Given the description of an element on the screen output the (x, y) to click on. 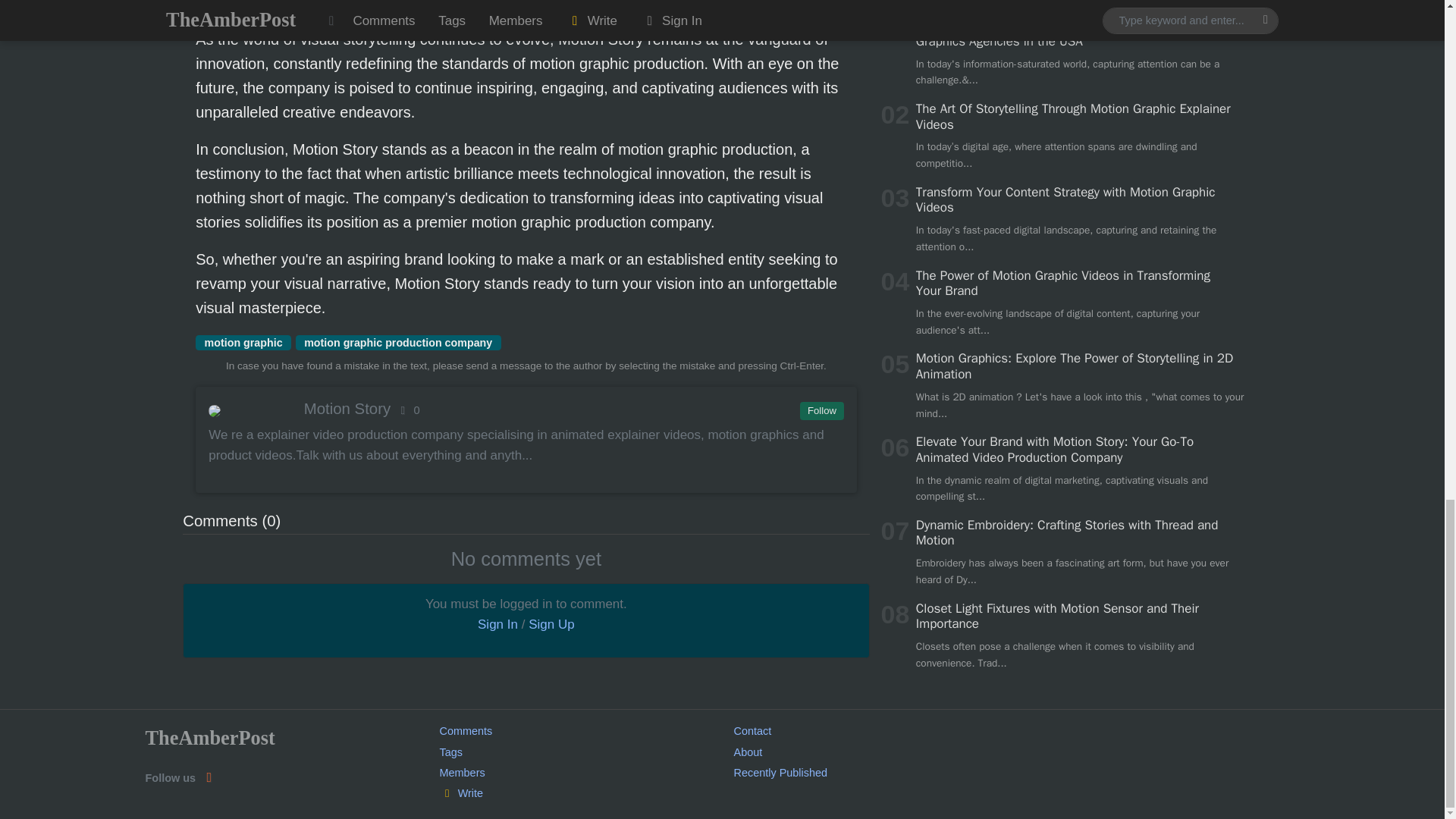
Sign In (497, 624)
motion graphic (243, 342)
motion graphic (243, 342)
motion graphic production company (397, 342)
Sign Up (550, 624)
motion graphic production company (397, 342)
Rating (407, 410)
Motion Story 0 (525, 408)
Follow (821, 411)
